Given the description of an element on the screen output the (x, y) to click on. 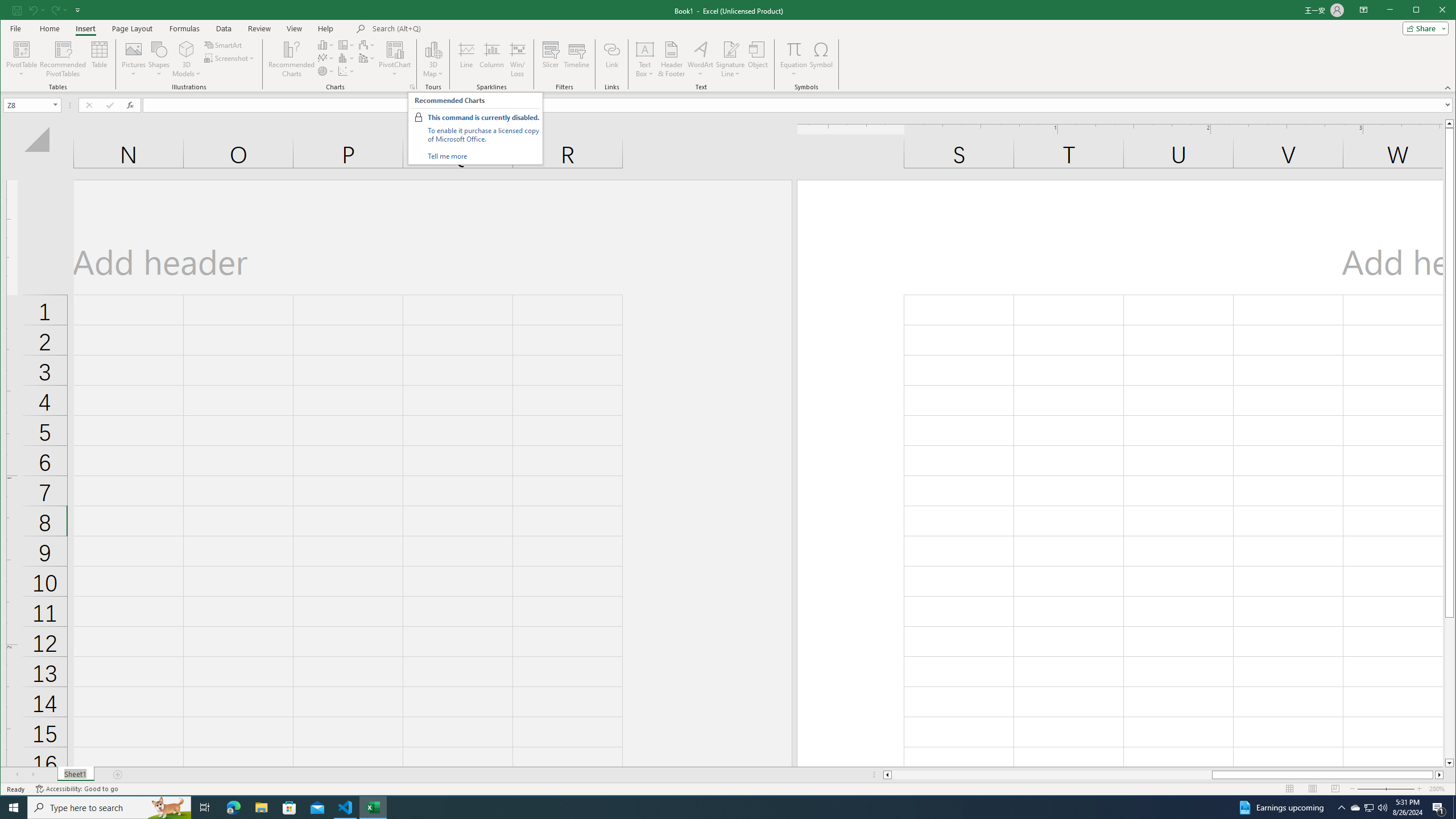
3D Models (186, 59)
PivotChart (394, 48)
Maximize (1432, 11)
Task View (204, 807)
Shapes (159, 59)
Column (492, 59)
Object... (757, 59)
